Given the description of an element on the screen output the (x, y) to click on. 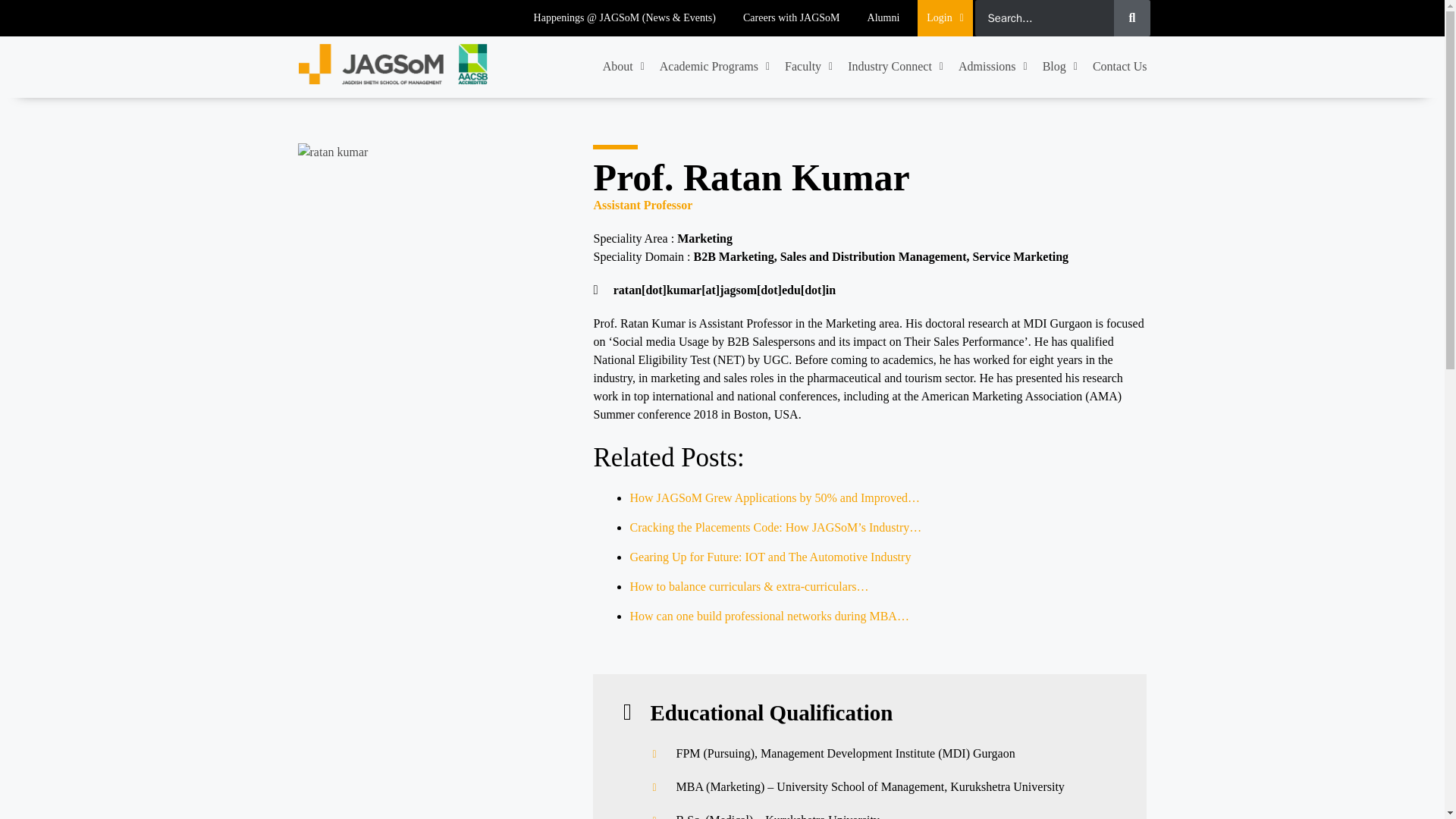
Academic Programs (714, 66)
Careers with JAGSoM (790, 18)
About (623, 66)
Login (944, 18)
Faculty (808, 66)
Alumni (883, 18)
